Given the description of an element on the screen output the (x, y) to click on. 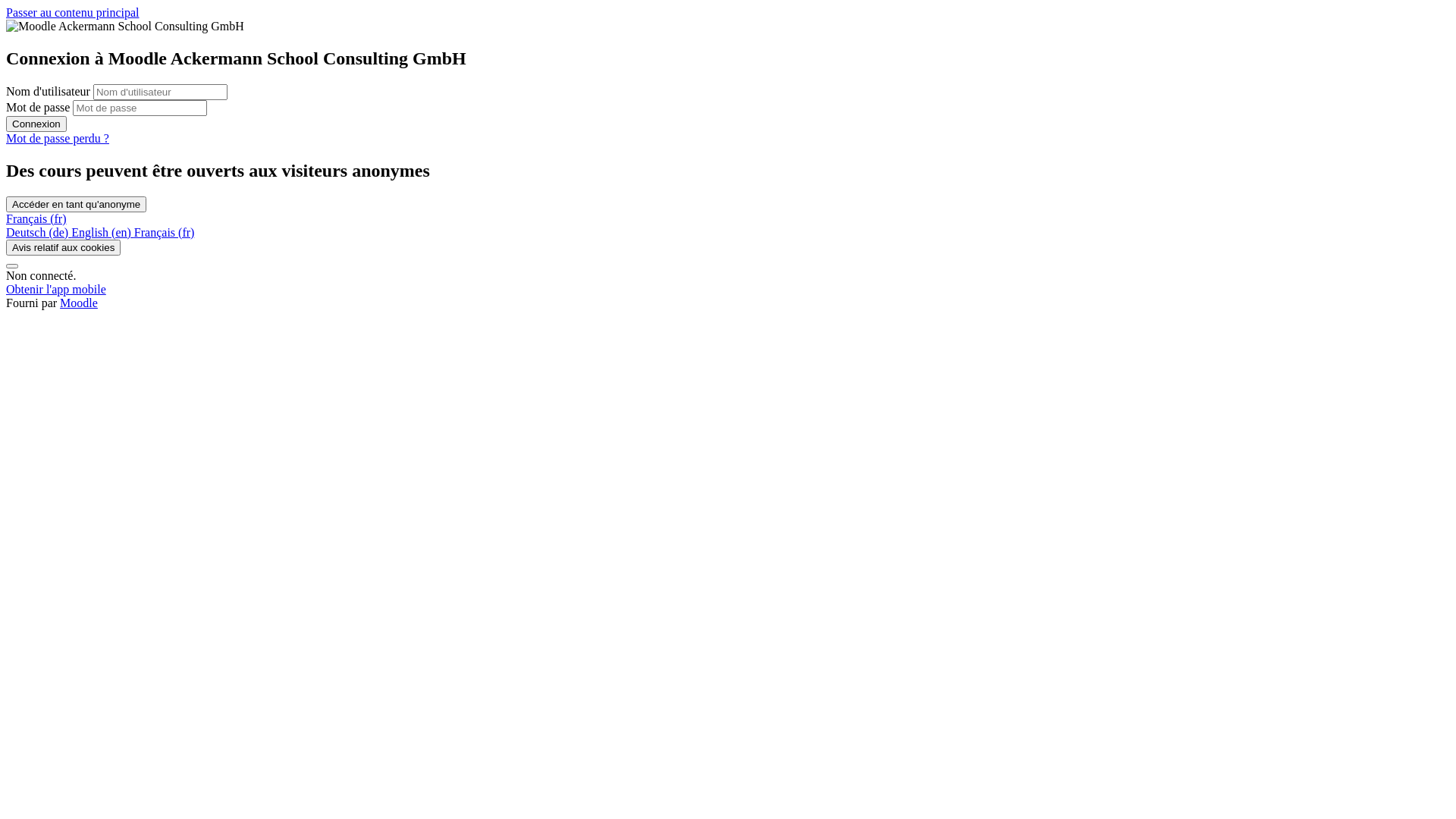
Deutsch (de) Element type: text (38, 231)
Connexion Element type: text (36, 123)
Avis relatif aux cookies Element type: text (63, 247)
English (en) Element type: text (102, 231)
Obtenir l'app mobile Element type: text (56, 288)
Passer au contenu principal Element type: text (72, 12)
Mot de passe perdu ? Element type: text (57, 137)
Moodle Element type: text (78, 302)
